Given the description of an element on the screen output the (x, y) to click on. 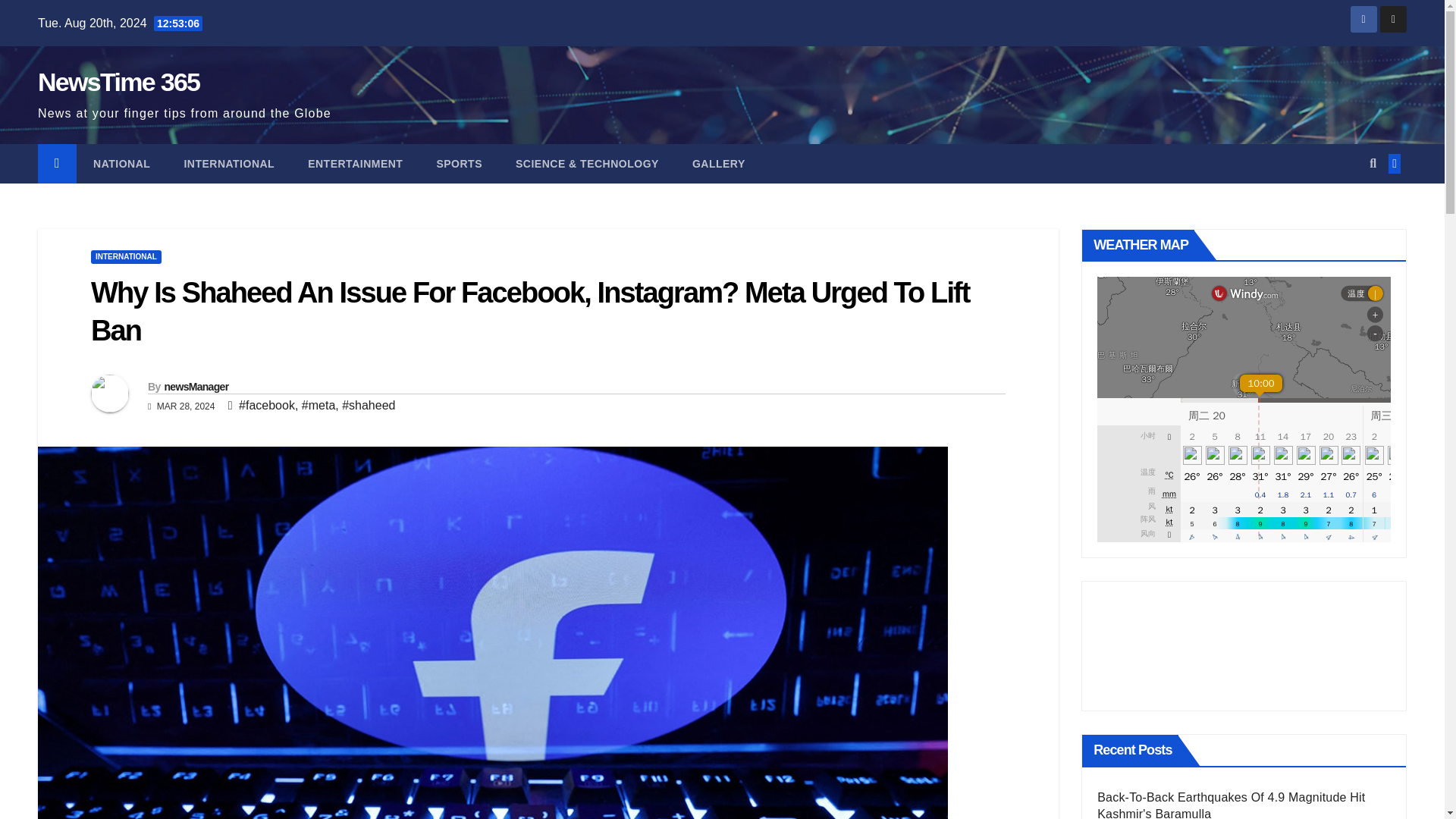
Gallery (718, 163)
NewsTime 365 (118, 81)
National (122, 163)
Entertainment (355, 163)
INTERNATIONAL (229, 163)
SPORTS (459, 163)
NATIONAL (122, 163)
GALLERY (718, 163)
Sports (459, 163)
